Given the description of an element on the screen output the (x, y) to click on. 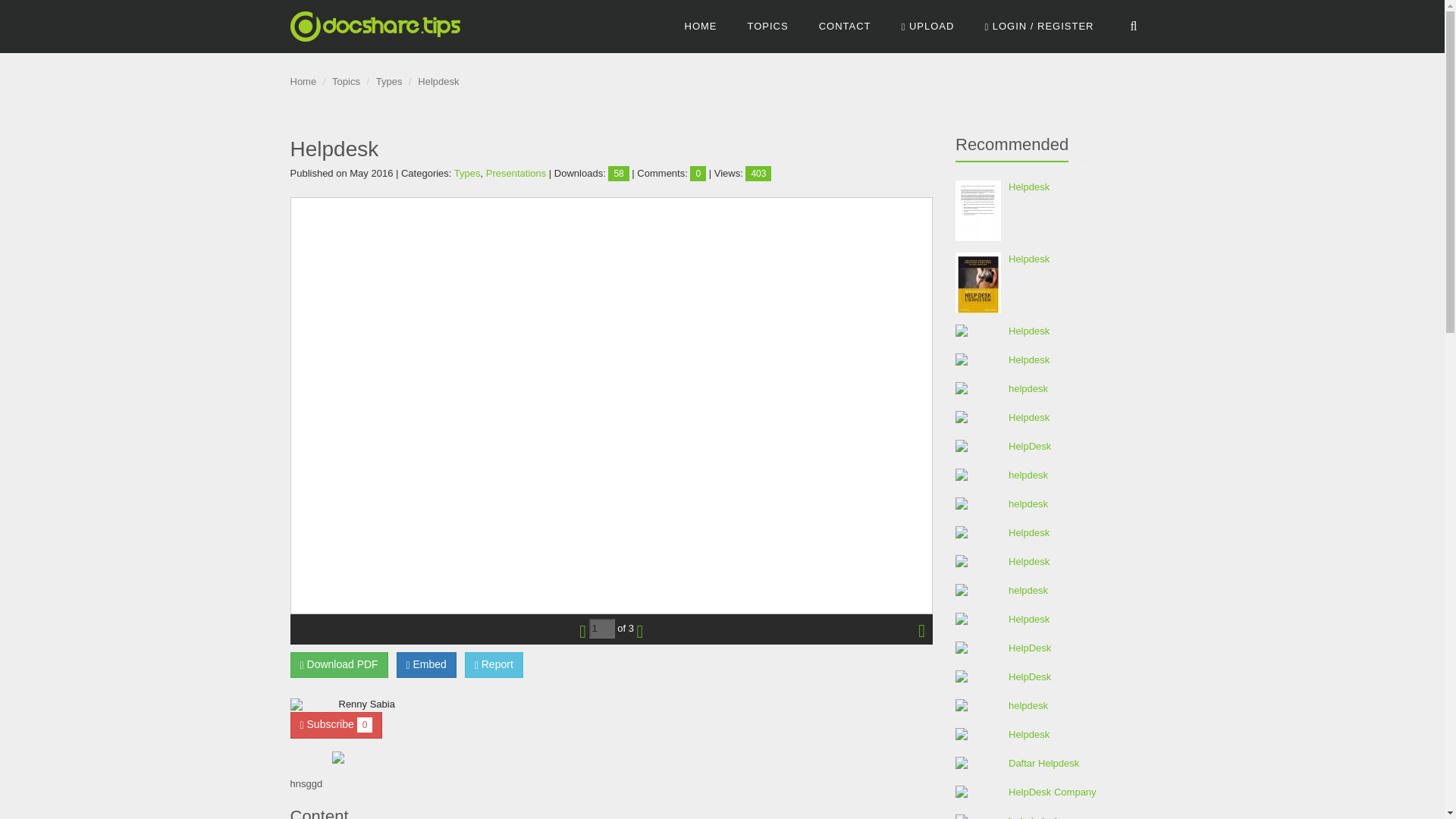
1 (601, 629)
TOPICS (767, 26)
HOME (700, 26)
Share (426, 664)
